Given the description of an element on the screen output the (x, y) to click on. 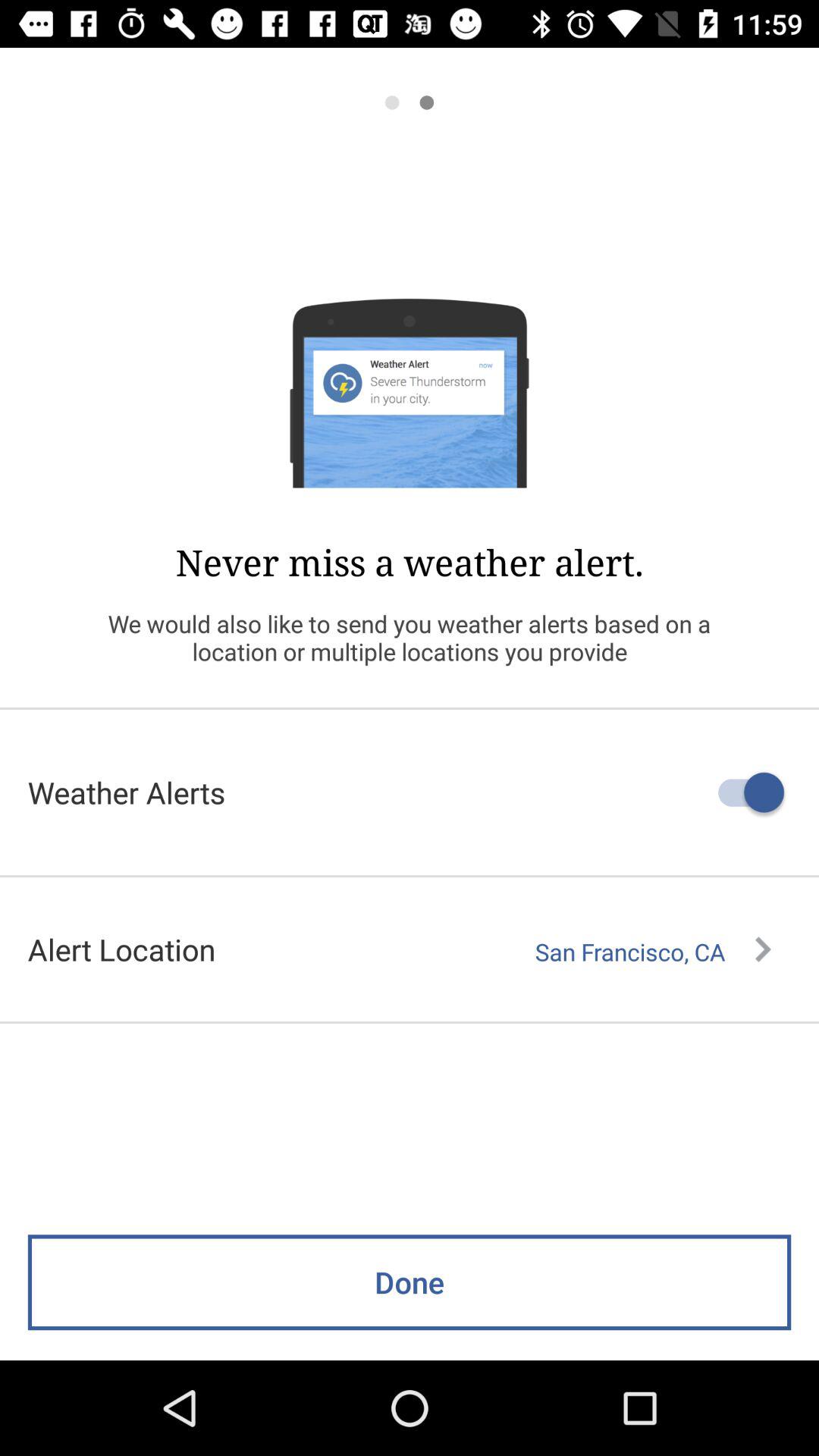
swipe until the san francisco, ca (653, 951)
